Given the description of an element on the screen output the (x, y) to click on. 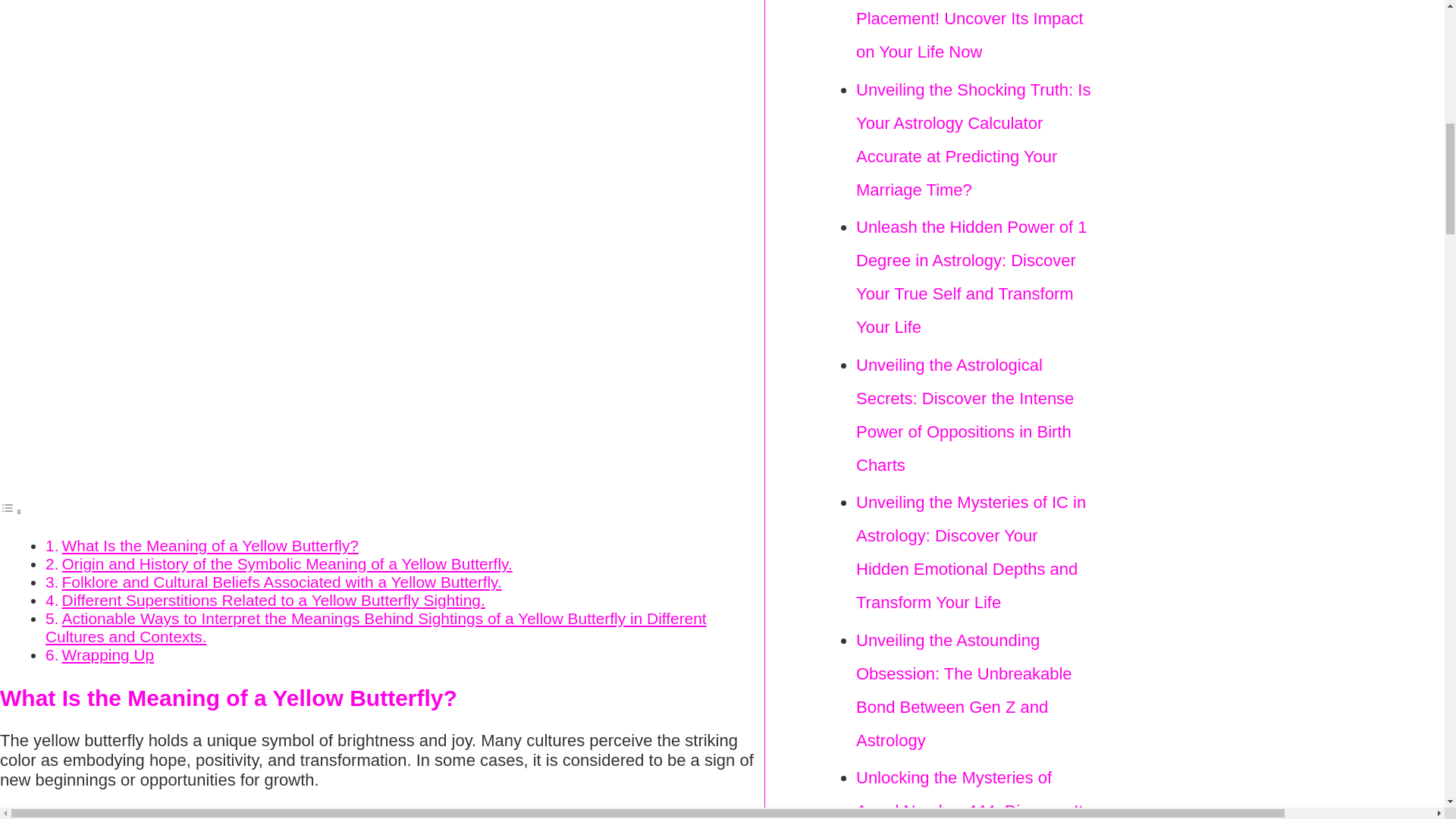
What Is the Meaning of a Yellow Butterfly? (210, 545)
Wrapping Up (108, 654)
Wrapping Up (108, 654)
What Is the Meaning of a Yellow Butterfly? (210, 545)
